Given the description of an element on the screen output the (x, y) to click on. 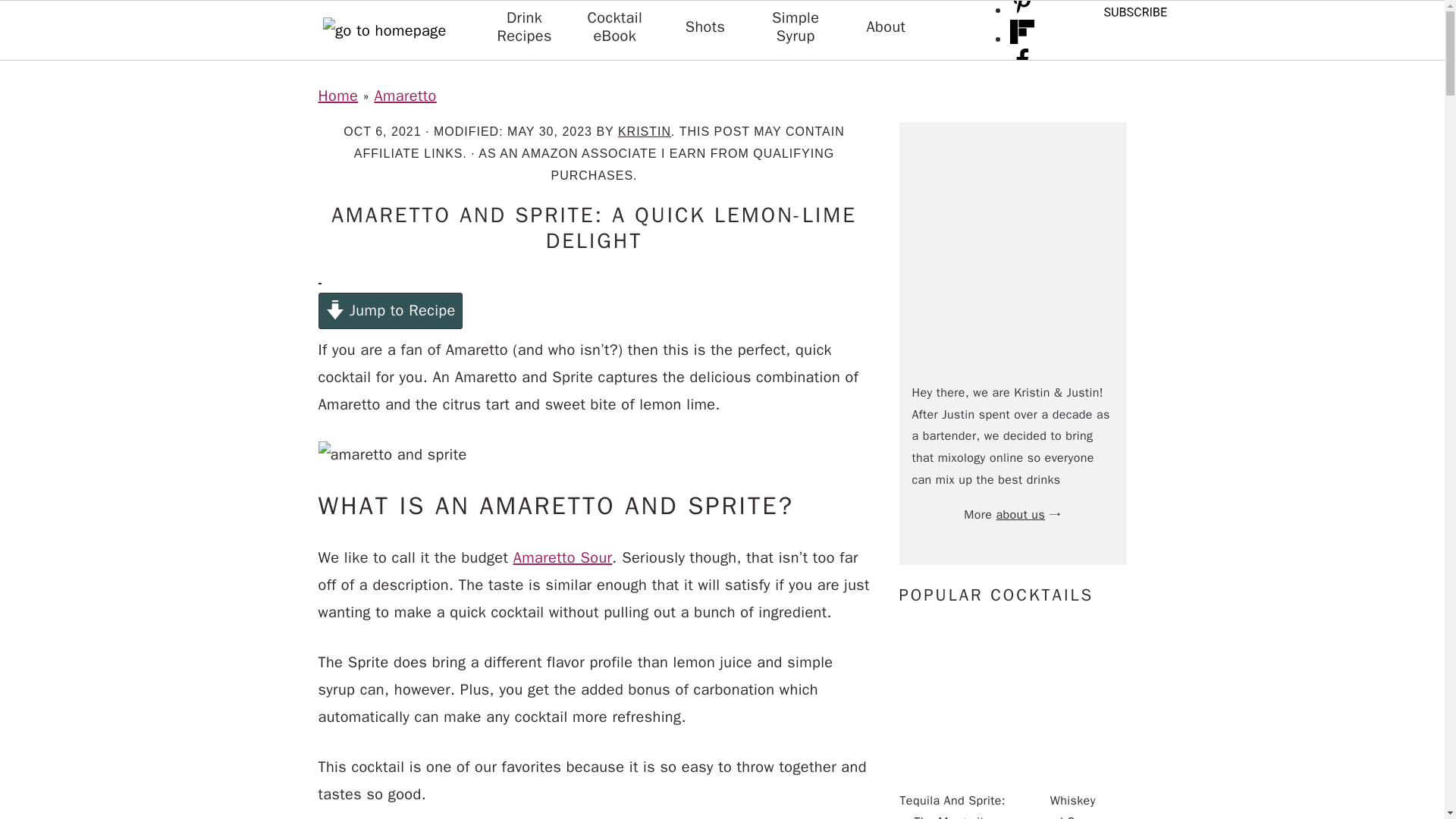
Follow on Facebook (1021, 66)
Follow on Pinterest (1021, 9)
Cocktail eBook (615, 27)
About (885, 27)
Home (338, 95)
subscribe (1134, 18)
Drink Recipes (523, 27)
Simple Syrup (795, 27)
Shots (705, 27)
subscribe (1134, 11)
search icon (384, 86)
Amaretto (404, 95)
Follow on Flipboard (1021, 37)
